Given the description of an element on the screen output the (x, y) to click on. 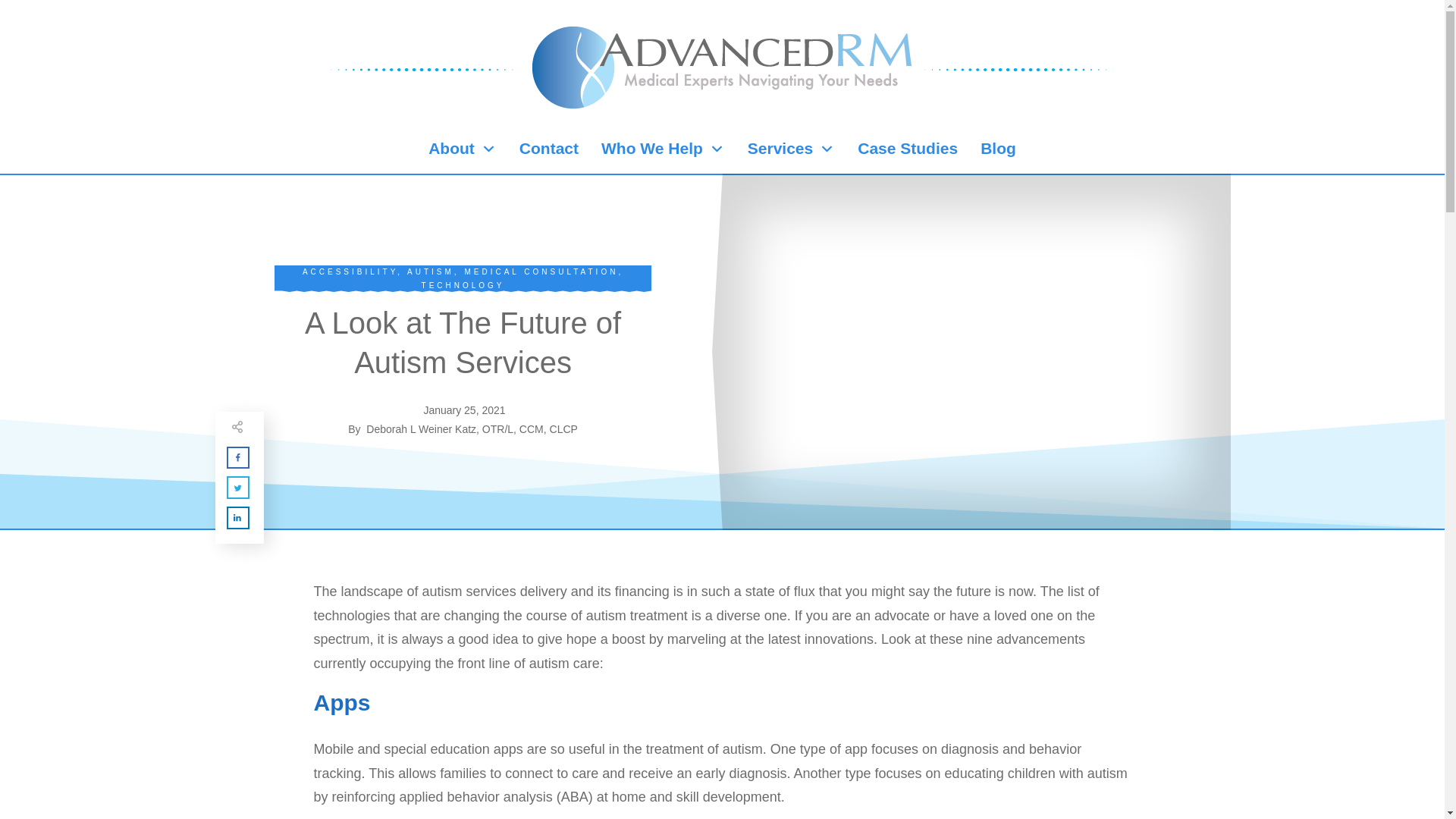
Asset 5 (424, 69)
Who We Help (663, 148)
About (462, 148)
Blog (997, 148)
Contact (548, 148)
Services (791, 148)
Asset 5 (1018, 69)
Case Studies (907, 148)
